Given the description of an element on the screen output the (x, y) to click on. 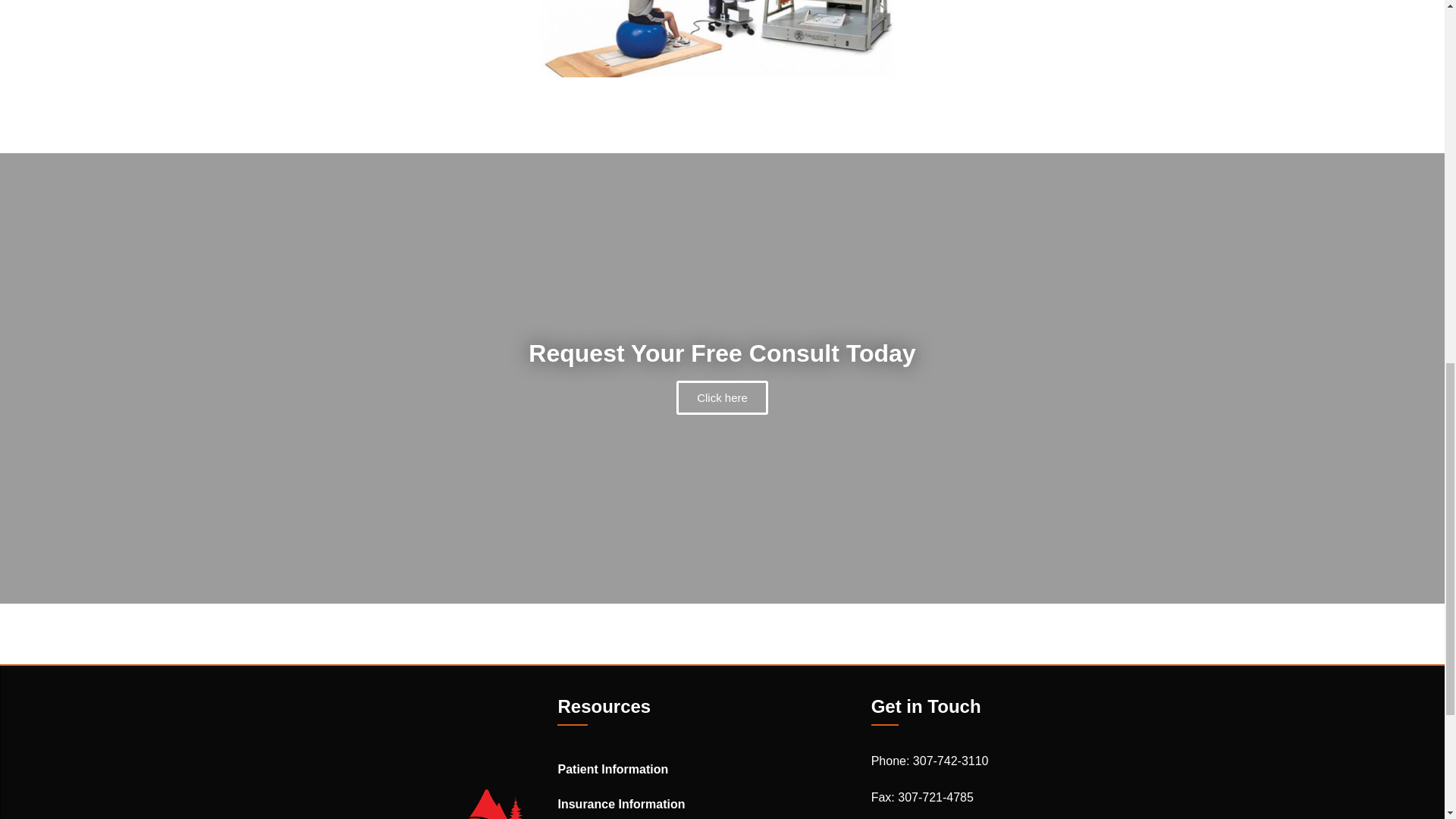
307-742-3110 (950, 760)
Patient Information (706, 769)
Insurance Information (706, 803)
Click here (722, 397)
